Given the description of an element on the screen output the (x, y) to click on. 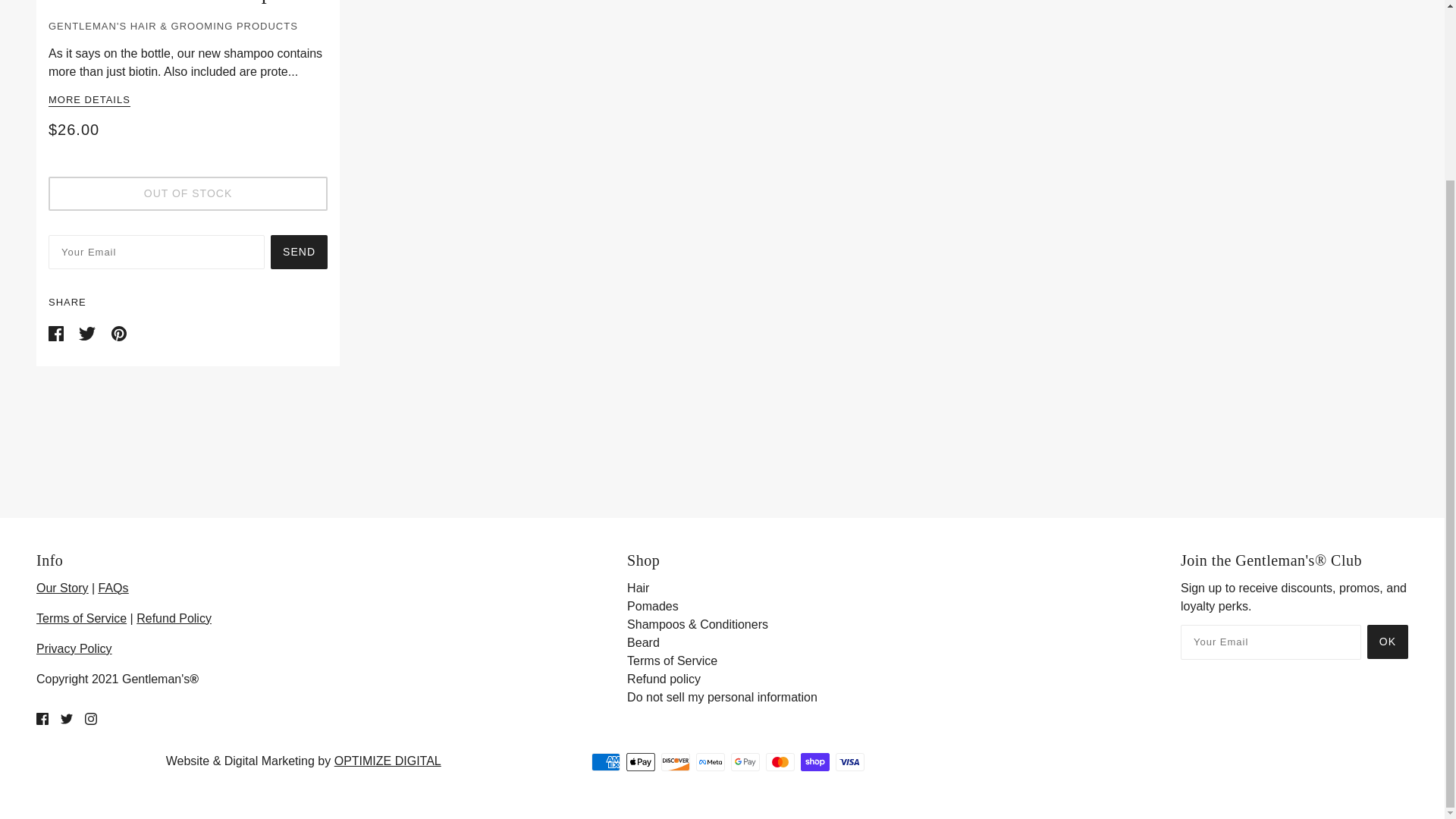
Google Pay (745, 761)
SEND (298, 252)
Apple Pay (640, 761)
MORE DETAILS (89, 101)
Pomades (652, 605)
Hair (638, 587)
Privacy Policy (74, 648)
Discover (675, 761)
Privacy Policy (74, 648)
American Express (605, 761)
